Given the description of an element on the screen output the (x, y) to click on. 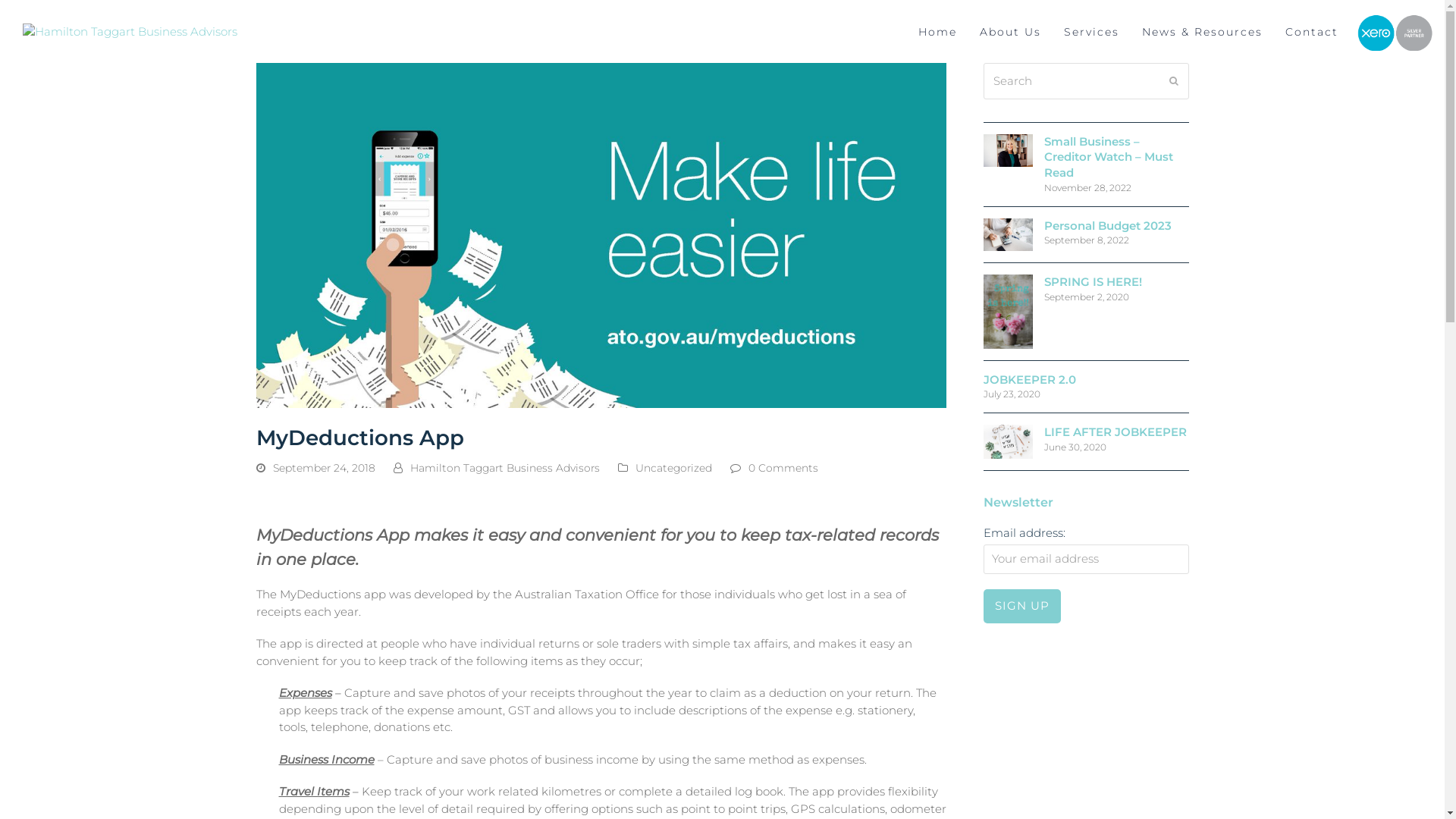
0 Comments Element type: text (782, 468)
Home Element type: text (937, 31)
SPRING IS HERE!
September 2, 2020 Element type: text (1086, 311)
Services Element type: text (1091, 31)
Uncategorized Element type: text (673, 467)
Contact Element type: text (1311, 31)
News & Resources Element type: text (1202, 31)
LIFE AFTER JOBKEEPER
June 30, 2020 Element type: text (1086, 441)
Personal Budget 2023
September 8, 2022 Element type: text (1086, 234)
SUBMIT Element type: text (1173, 80)
JOBKEEPER 2.0
July 23, 2020 Element type: text (1086, 386)
Hamilton Taggart Business Advisors Element type: text (504, 467)
About Us Element type: text (1010, 31)
Sign up Element type: text (1021, 606)
